Given the description of an element on the screen output the (x, y) to click on. 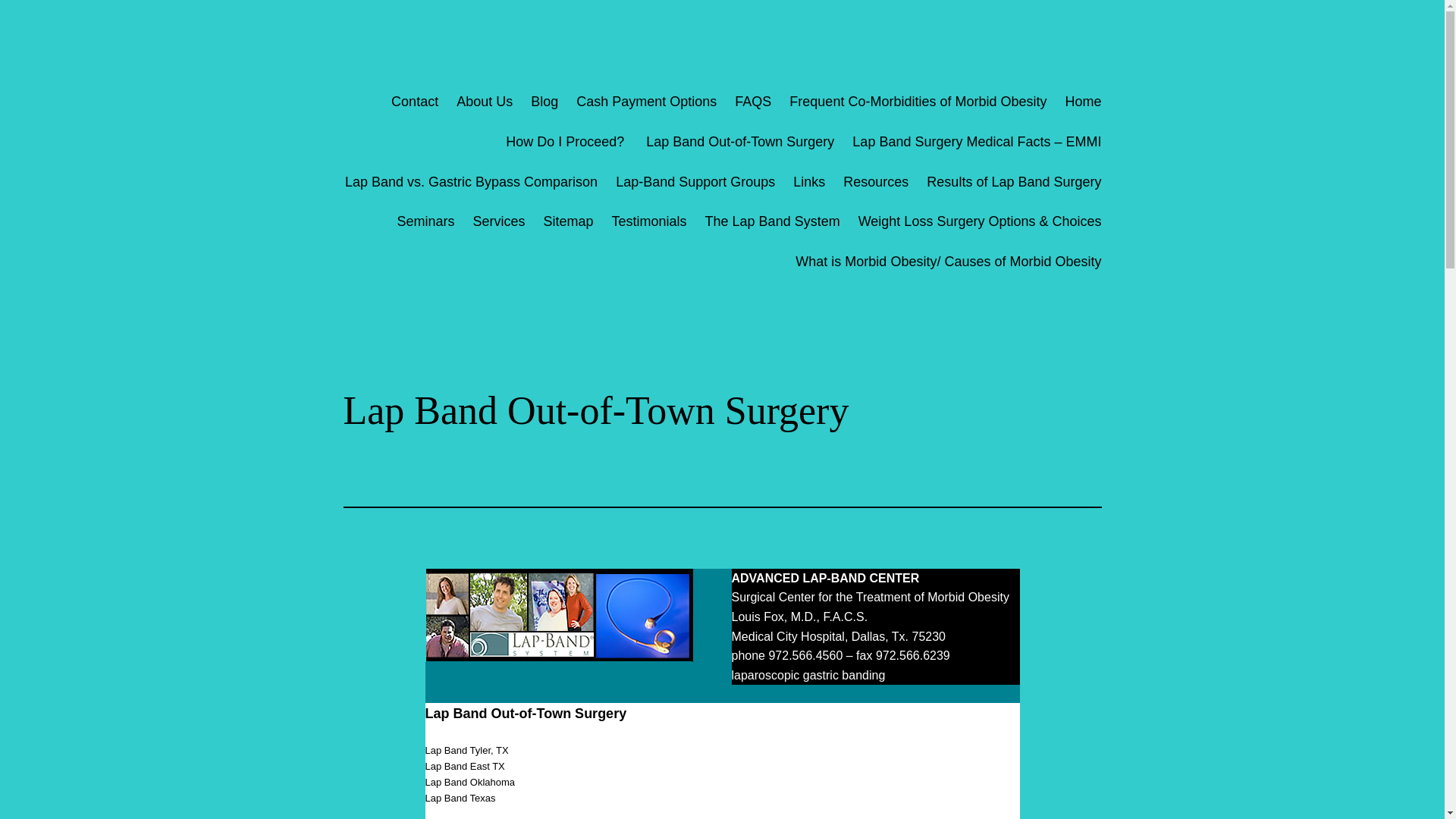
Results of Lap Band Surgery (1013, 182)
Resources (875, 182)
 Contact (412, 101)
Seminars (425, 221)
Cash Payment Options (646, 101)
About Us (484, 101)
How Do I Proceed?  (566, 142)
Testimonials (649, 221)
Frequent Co-Morbidities of Morbid Obesity (917, 101)
Sitemap (567, 221)
Links (809, 182)
Lap Band vs. Gastric Bypass Comparison (470, 182)
Lap-Band Support Groups (694, 182)
Lap Band Out-of-Town Surgery (740, 142)
FAQS (753, 101)
